Given the description of an element on the screen output the (x, y) to click on. 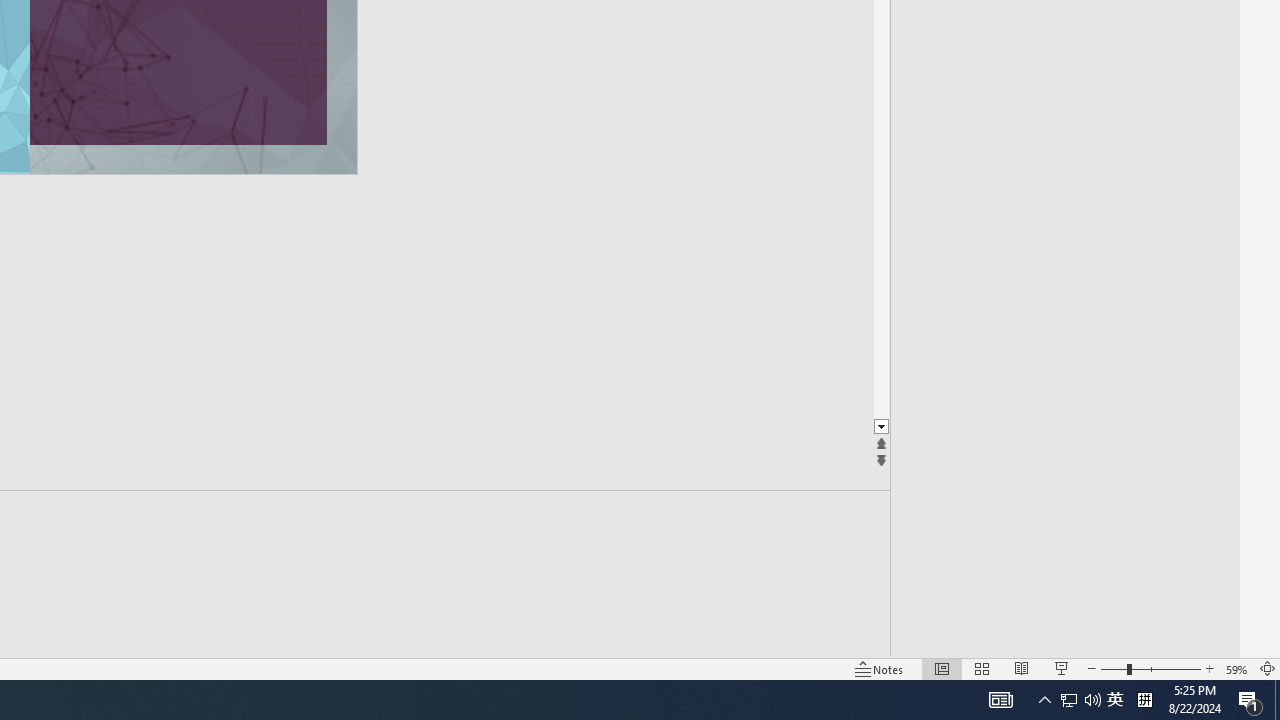
Notifications (537, 628)
